Given the description of an element on the screen output the (x, y) to click on. 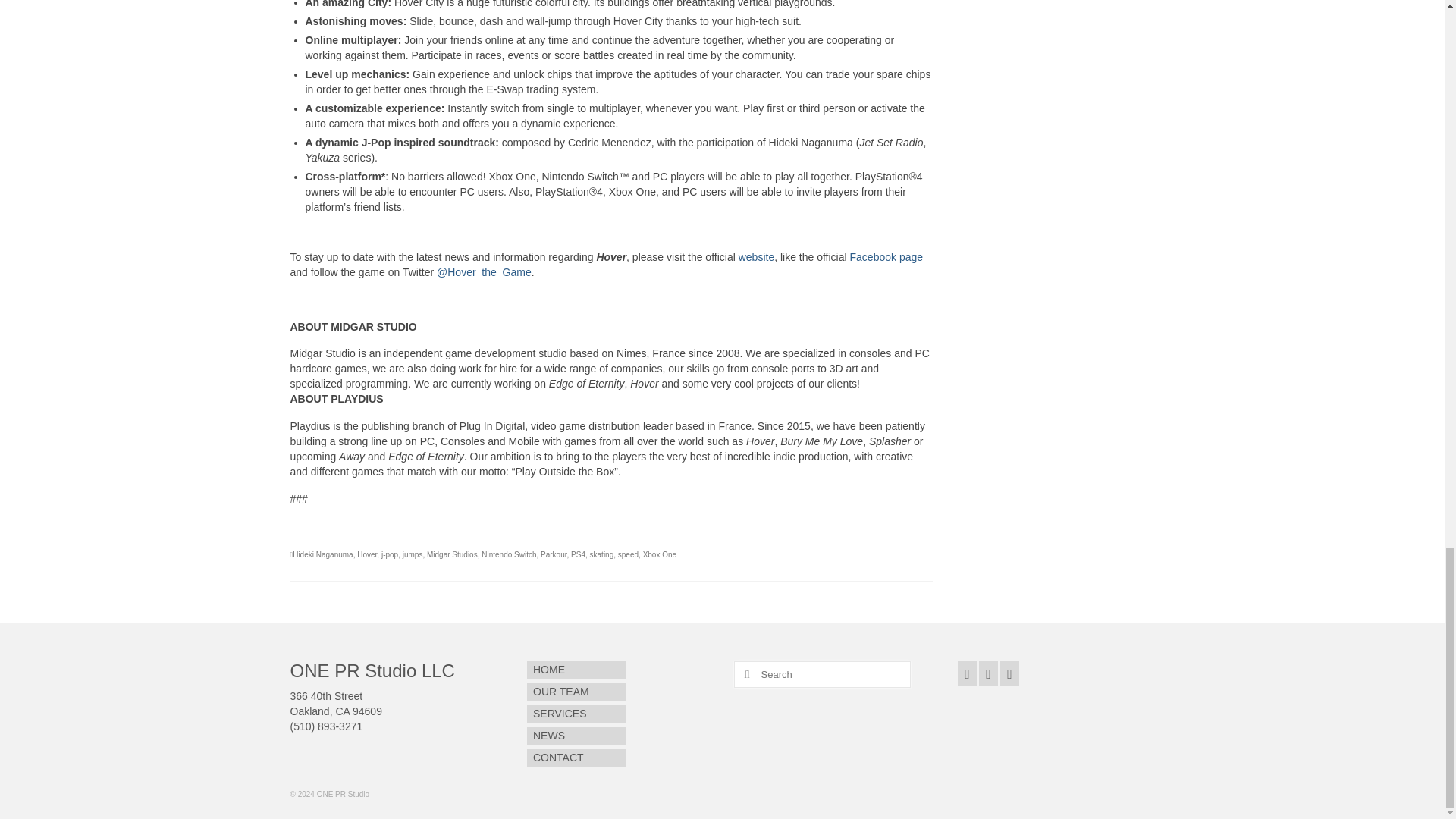
skating (601, 554)
Hideki Naganuma (322, 554)
website (756, 256)
Facebook page (886, 256)
speed (628, 554)
Xbox One (660, 554)
Hover (366, 554)
j-pop (389, 554)
PS4 (577, 554)
Nintendo Switch (508, 554)
